Given the description of an element on the screen output the (x, y) to click on. 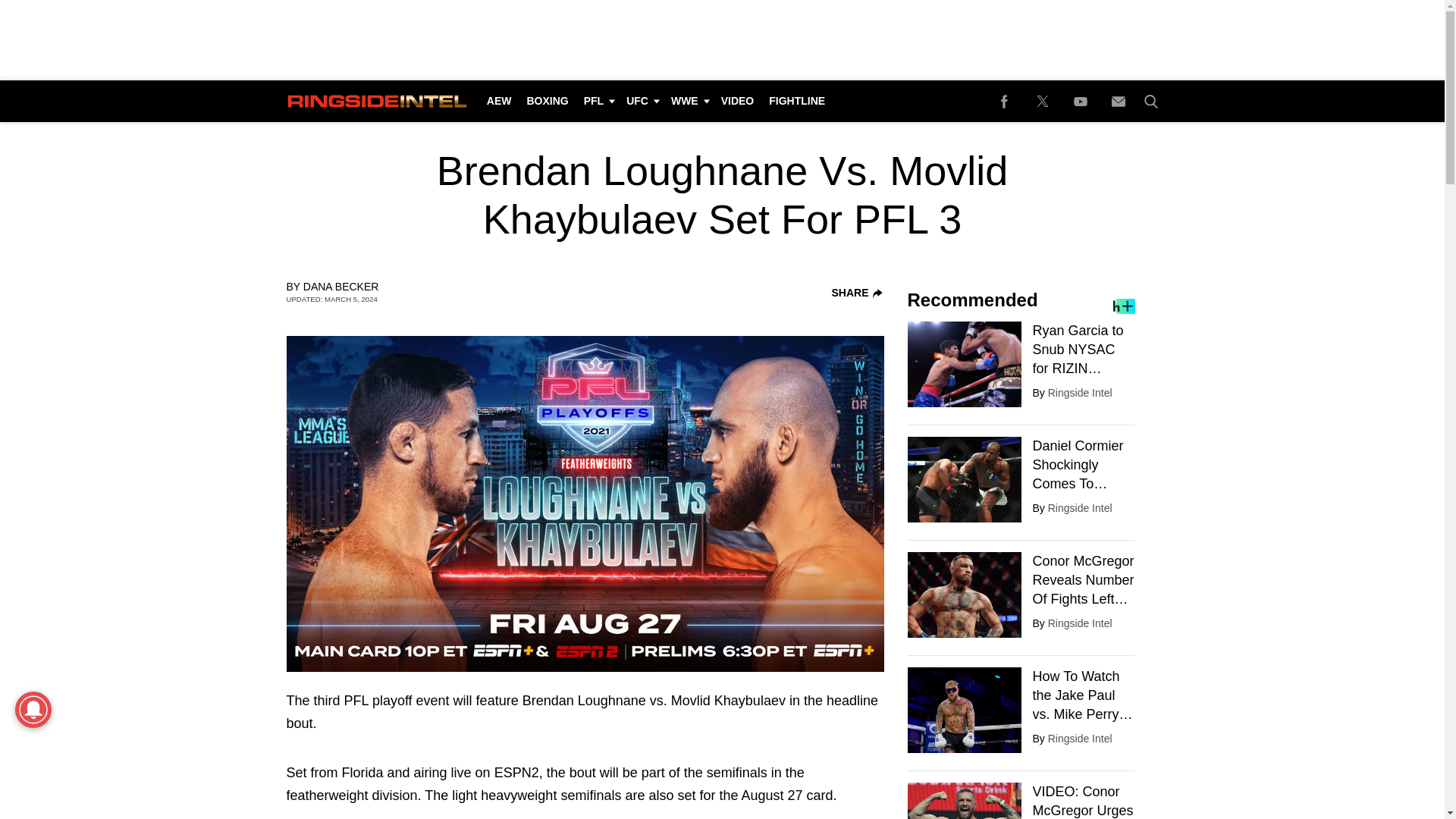
VIDEO (737, 101)
PFL (597, 101)
Advertisement (721, 39)
Posts by Dana Becker (340, 286)
AEW (499, 101)
Ringside Intel (1080, 392)
BOXING (546, 101)
FIGHTLINE (796, 101)
WWE (688, 101)
Send us an email (1118, 101)
DANA BECKER (340, 286)
Follow us on Twitter (1042, 101)
Follow us on Facebook (1004, 101)
Subscribe to our YouTube channel (1080, 101)
